Given the description of an element on the screen output the (x, y) to click on. 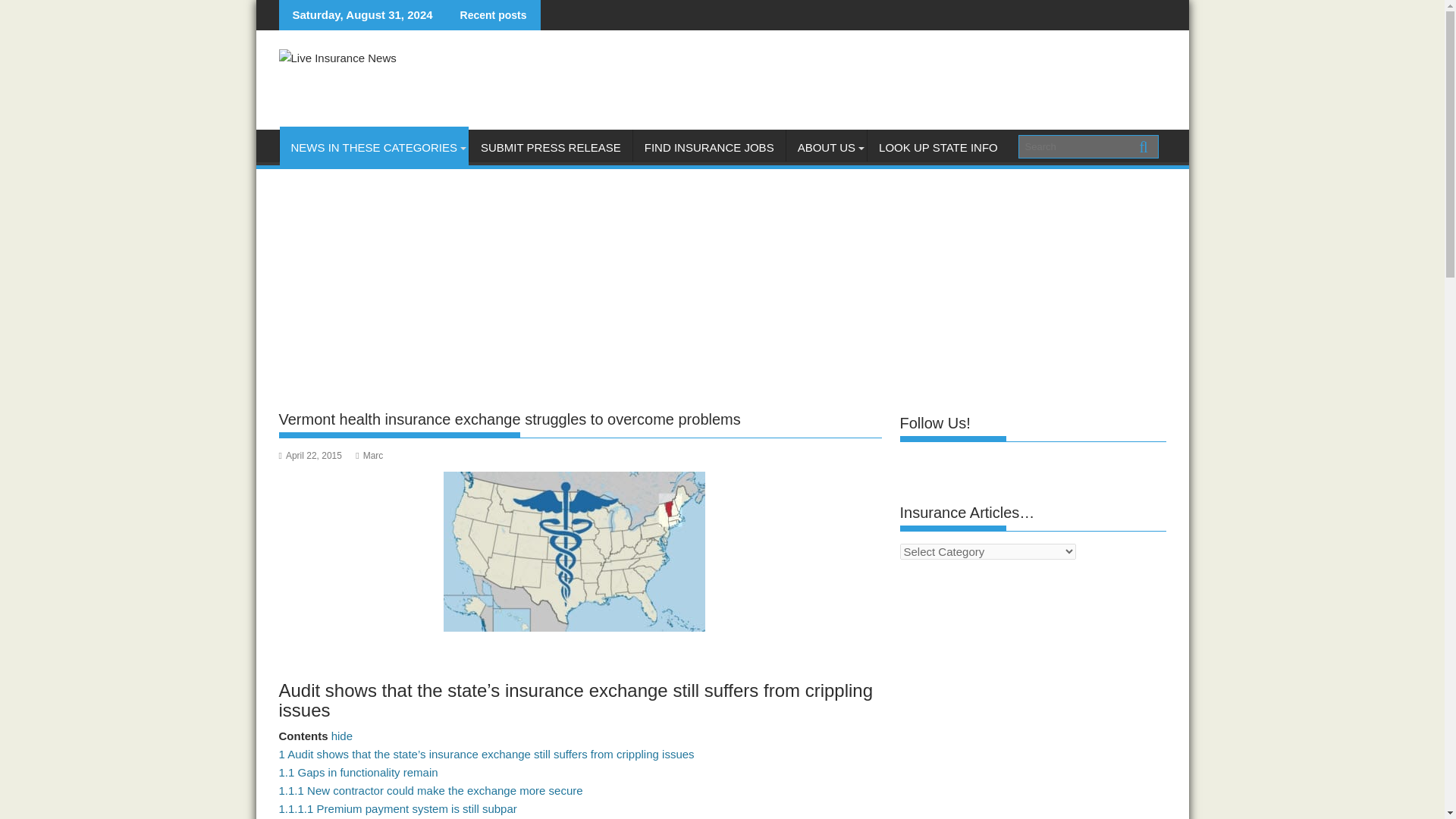
ABOUT US (826, 147)
LOOK UP STATE INFO (938, 147)
NEWS IN THESE CATEGORIES (373, 147)
FIND INSURANCE JOBS (709, 147)
SUBMIT PRESS RELEASE (549, 147)
April 22, 2015 (310, 455)
